Given the description of an element on the screen output the (x, y) to click on. 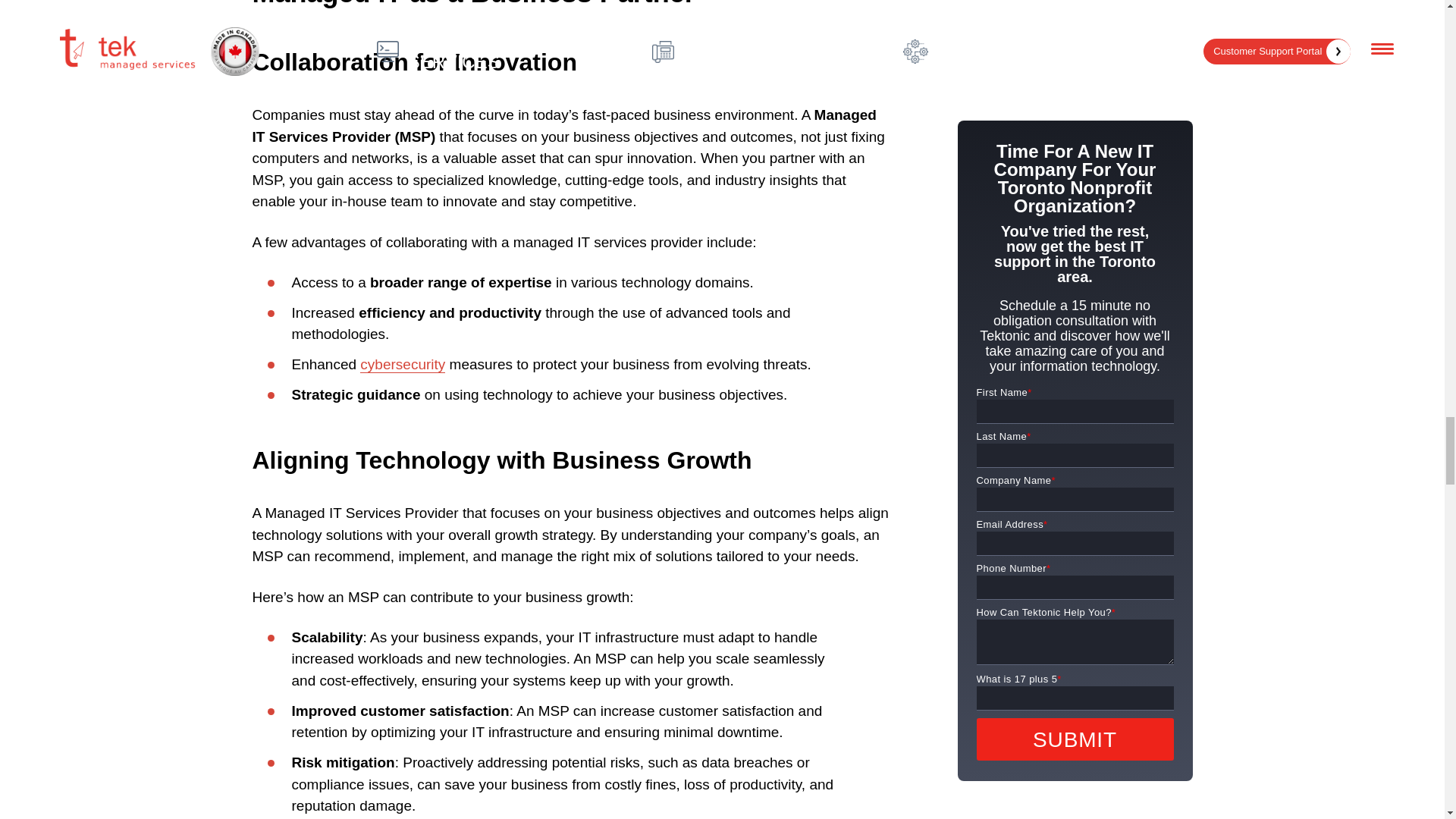
cybersecurity (402, 364)
